Given the description of an element on the screen output the (x, y) to click on. 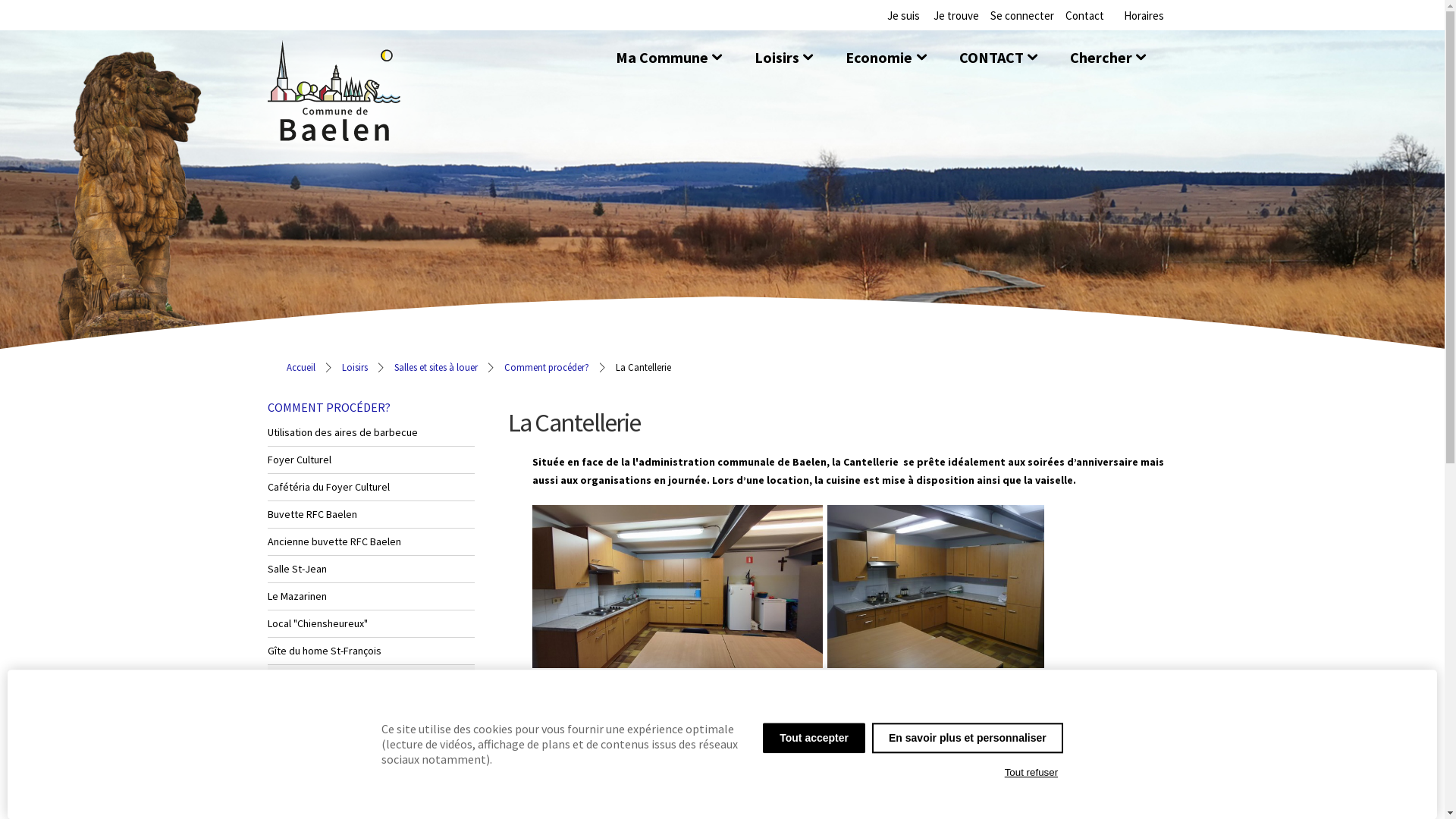
Tout refuser Element type: text (1031, 772)
Tout accepter Element type: text (813, 737)
Utilisation des aires de barbecue Element type: text (369, 432)
Je suis Element type: text (903, 14)
En savoir plus et personnaliser Element type: text (967, 737)
Se connecter Element type: text (1022, 14)
Foyer Culturel Element type: text (369, 459)
Loisirs Element type: text (354, 366)
Economie Element type: text (878, 57)
Ancienne buvette RFC Baelen Element type: text (369, 541)
Loisirs Element type: text (776, 57)
Horaires Element type: text (1143, 14)
Je trouve Element type: text (956, 14)
Contact Element type: text (1084, 14)
Le Mazarinen Element type: text (369, 596)
cuisine de la Cantellerie Element type: hover (677, 586)
cantellerie2 Element type: hover (934, 586)
CONTACT Element type: text (991, 57)
Baelen Element type: hover (332, 90)
Salle St-Jean Element type: text (369, 569)
Baelen Element type: hover (332, 133)
Ma Commune Element type: text (661, 57)
Aller au contenu. Element type: text (1200, 61)
Chercher Element type: text (1101, 57)
Local "Chiensheureux" Element type: text (369, 623)
Accueil Element type: text (300, 366)
La Cantellerie Element type: text (369, 678)
Buvette RFC Baelen Element type: text (369, 514)
